Given the description of an element on the screen output the (x, y) to click on. 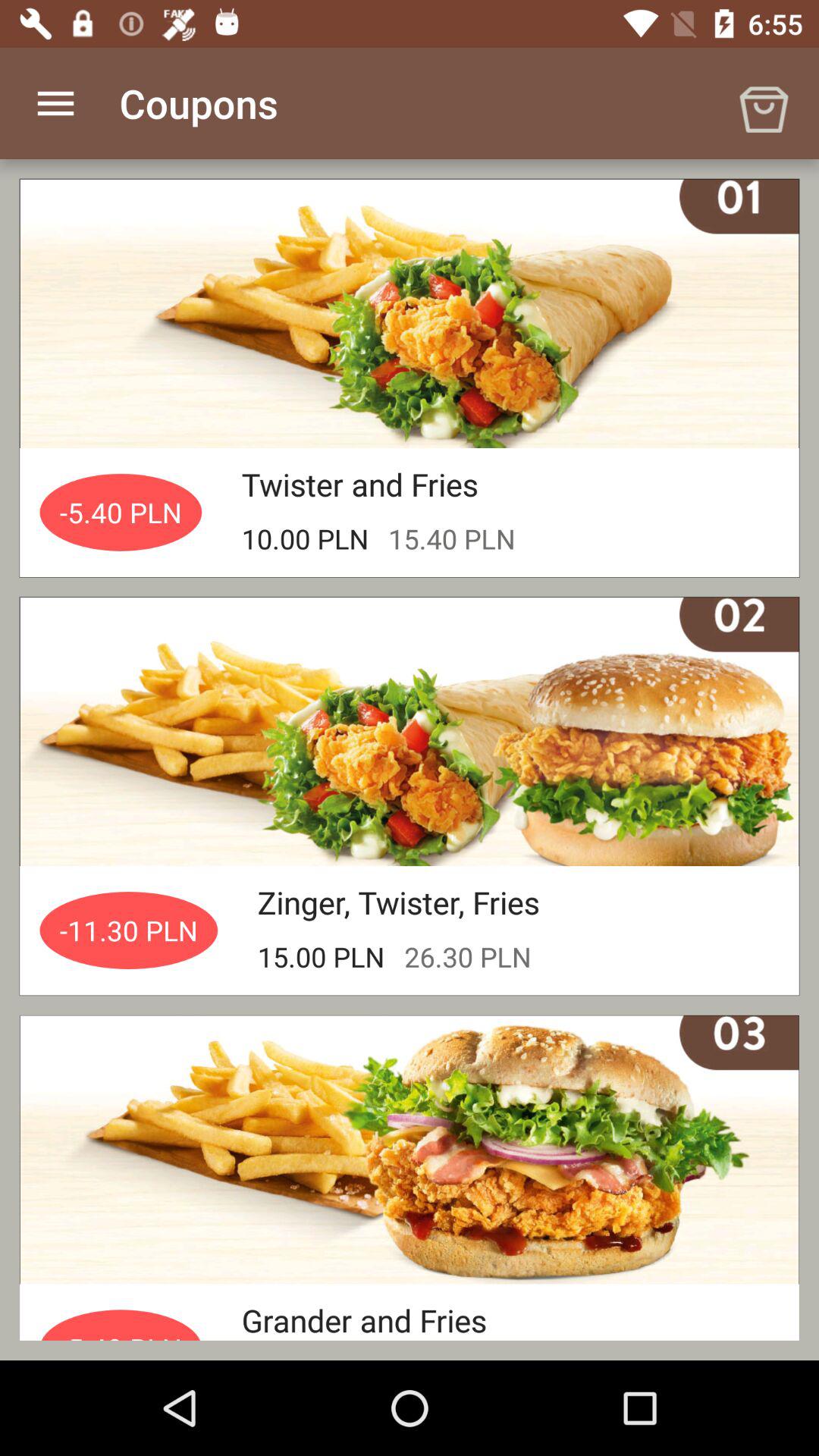
turn on item next to the coupons icon (763, 103)
